Given the description of an element on the screen output the (x, y) to click on. 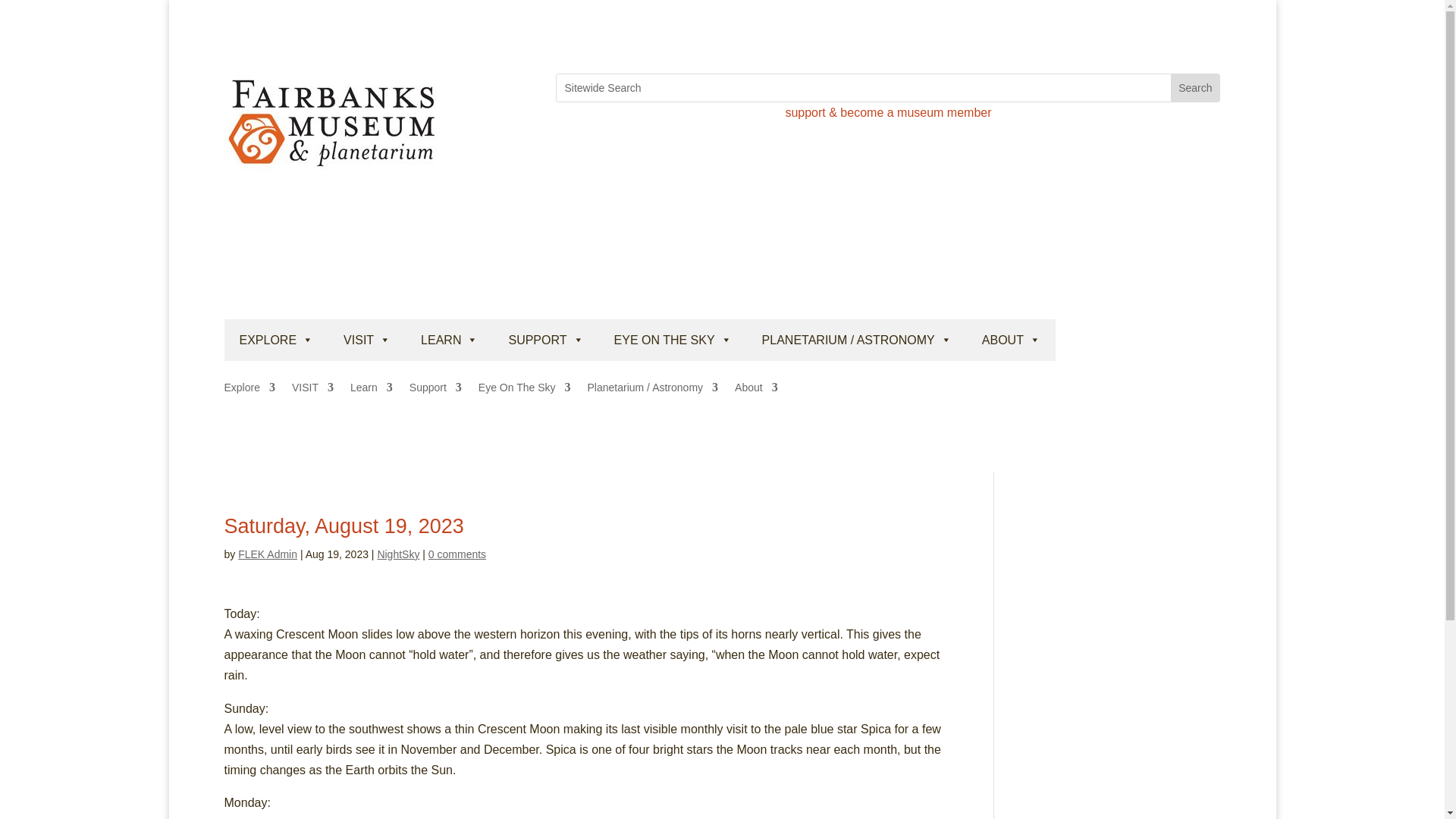
Search (1195, 87)
EYE ON THE SKY (672, 340)
LEARN (449, 340)
Search (1195, 87)
EXPLORE (276, 340)
VISIT (367, 340)
Search (1195, 87)
SUPPORT (545, 340)
Posts by FLEK Admin (267, 553)
